Given the description of an element on the screen output the (x, y) to click on. 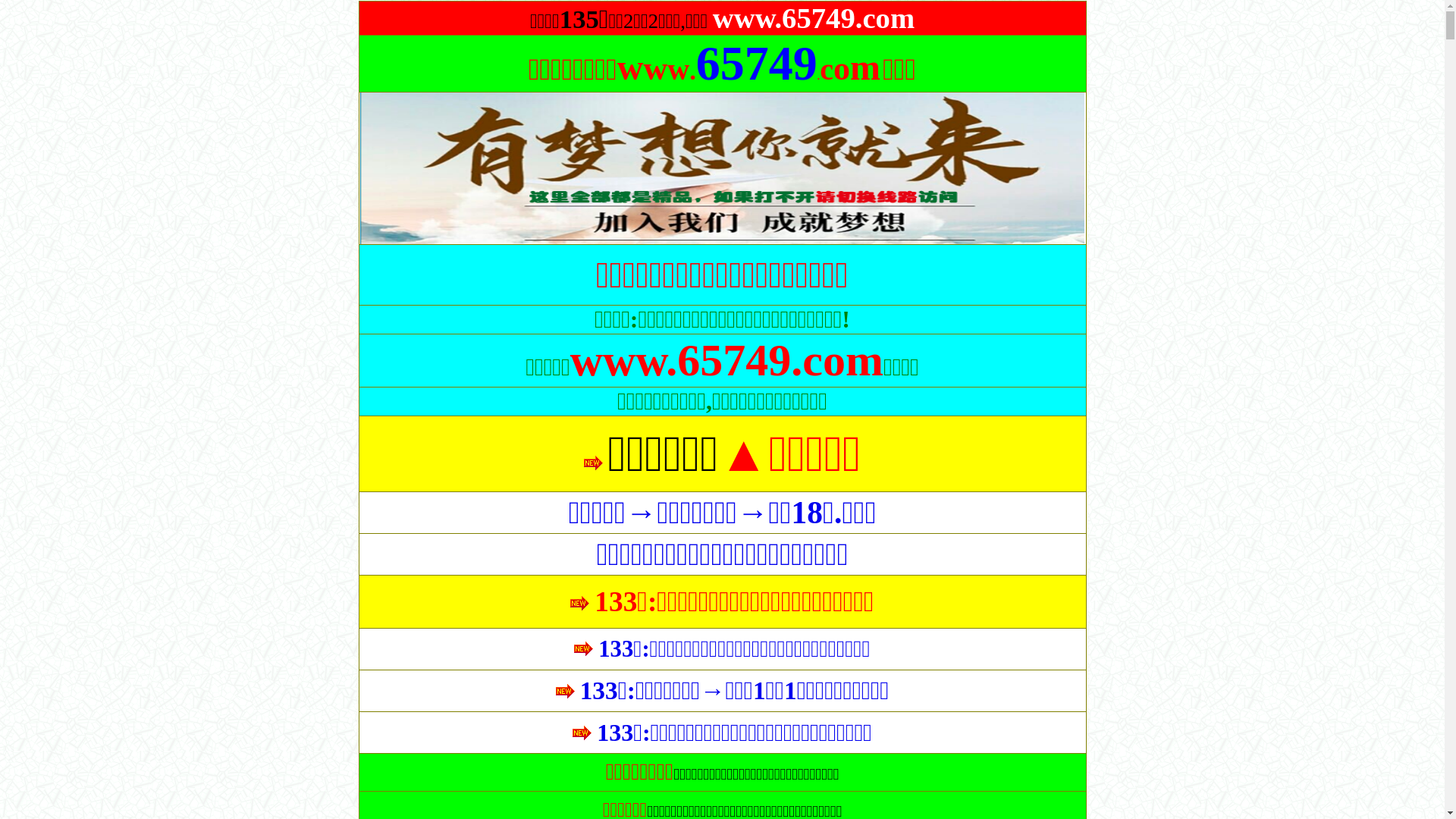
www.65749.com Element type: text (813, 23)
www.65749.com Element type: text (726, 365)
65749 Element type: text (756, 75)
